Given the description of an element on the screen output the (x, y) to click on. 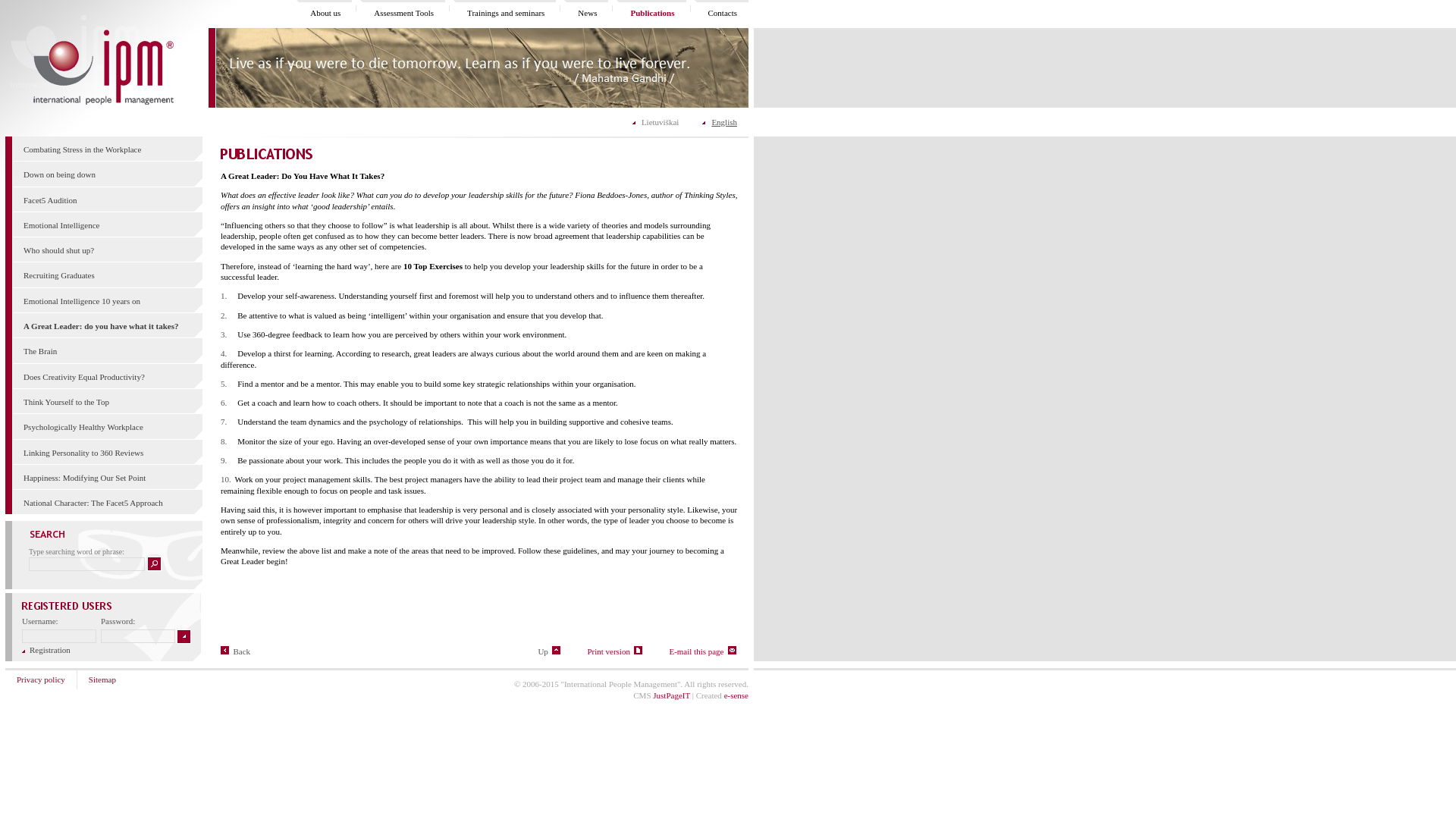
National Character: The Facet5 Approach (93, 501)
Facet5 Audition (50, 199)
Emotional Intelligence (61, 225)
  Back (235, 651)
Assessment Tools (403, 12)
Does Creativity Equal Productivity? (83, 376)
e-sense (735, 695)
Think Yourself to the Top (66, 401)
Recruiting Graduates (58, 275)
About us (325, 12)
Up   (548, 651)
Combating Stress in the Workplace (82, 148)
Privacy policy (40, 678)
Trainings and seminars (505, 12)
E-mail this page   (702, 651)
